Given the description of an element on the screen output the (x, y) to click on. 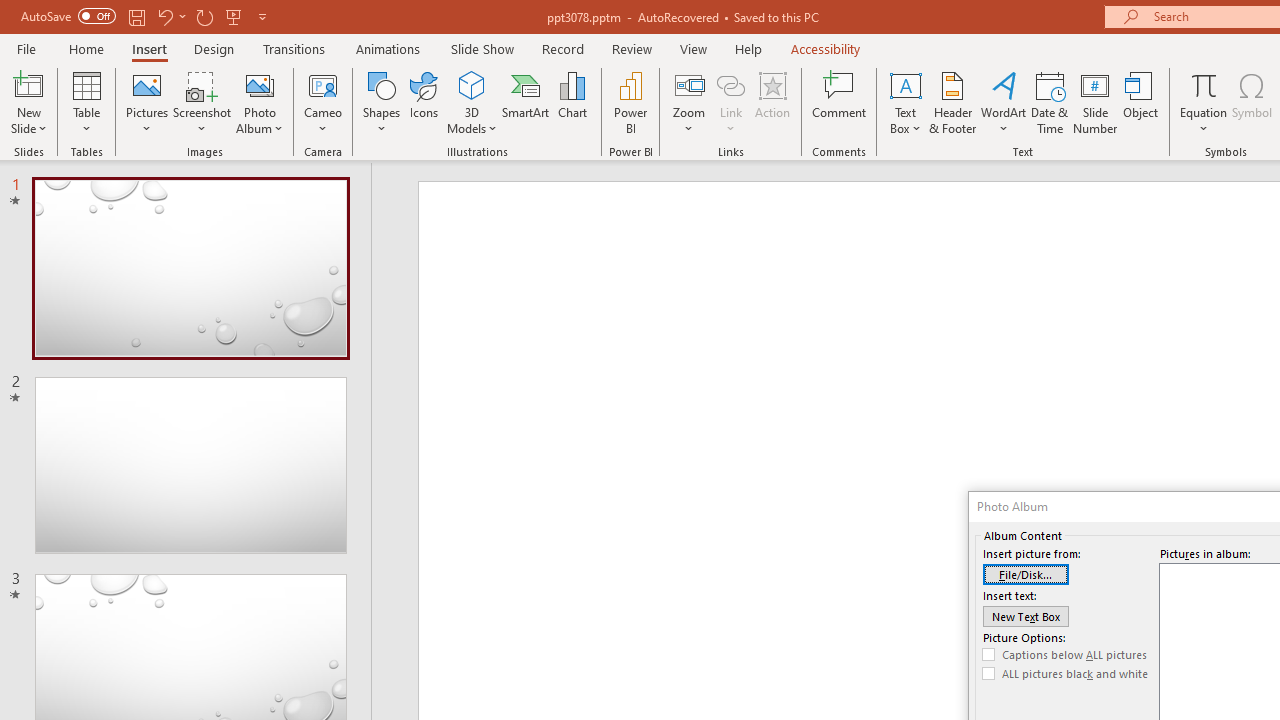
Captions below ALL pictures (1065, 655)
Symbol... (1252, 102)
Draw Horizontal Text Box (905, 84)
Power BI (630, 102)
Slide Number (1095, 102)
Date & Time... (1050, 102)
WordArt (1004, 102)
